Given the description of an element on the screen output the (x, y) to click on. 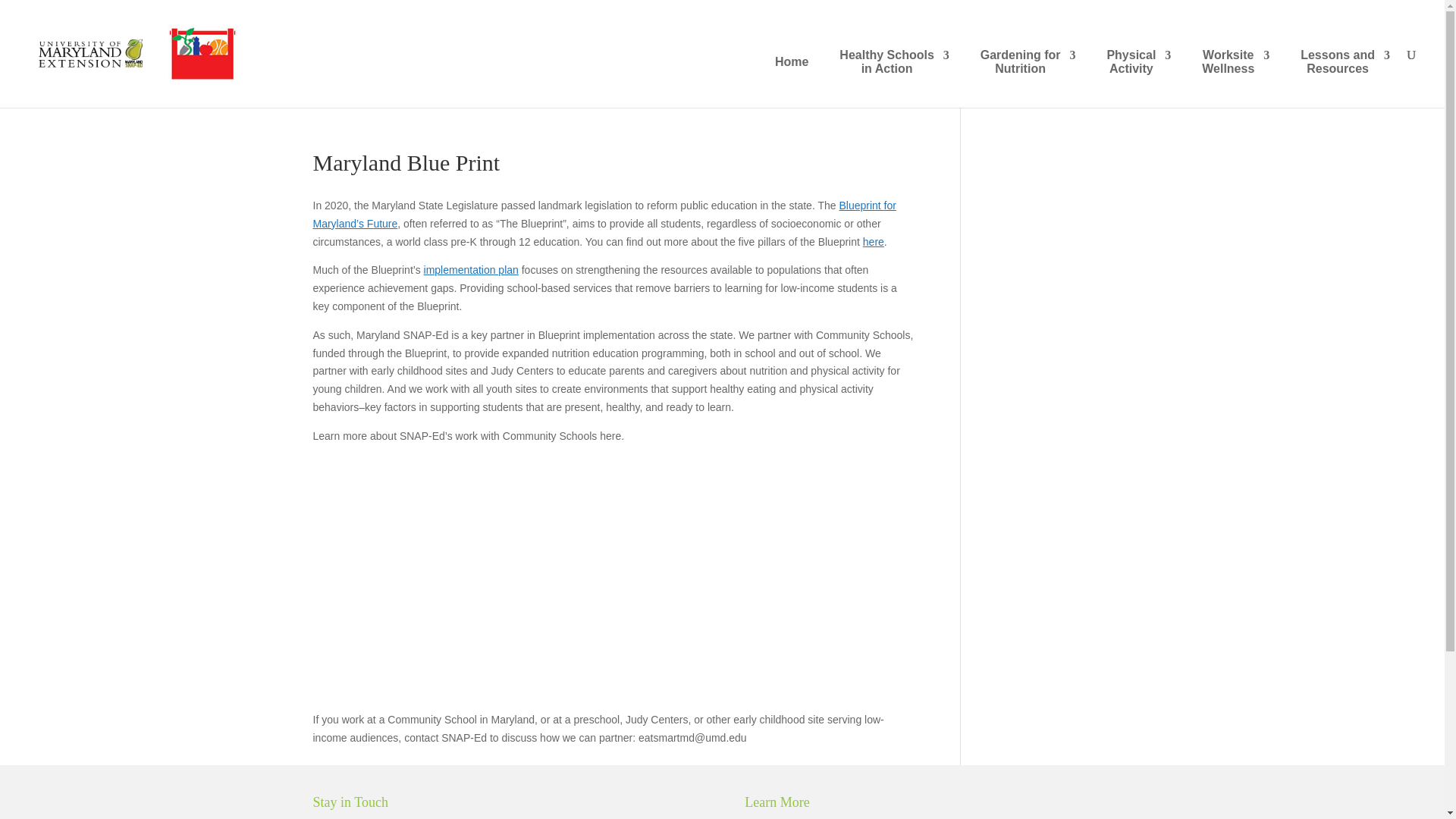
Home (1235, 69)
YouTube video player (791, 69)
